Given the description of an element on the screen output the (x, y) to click on. 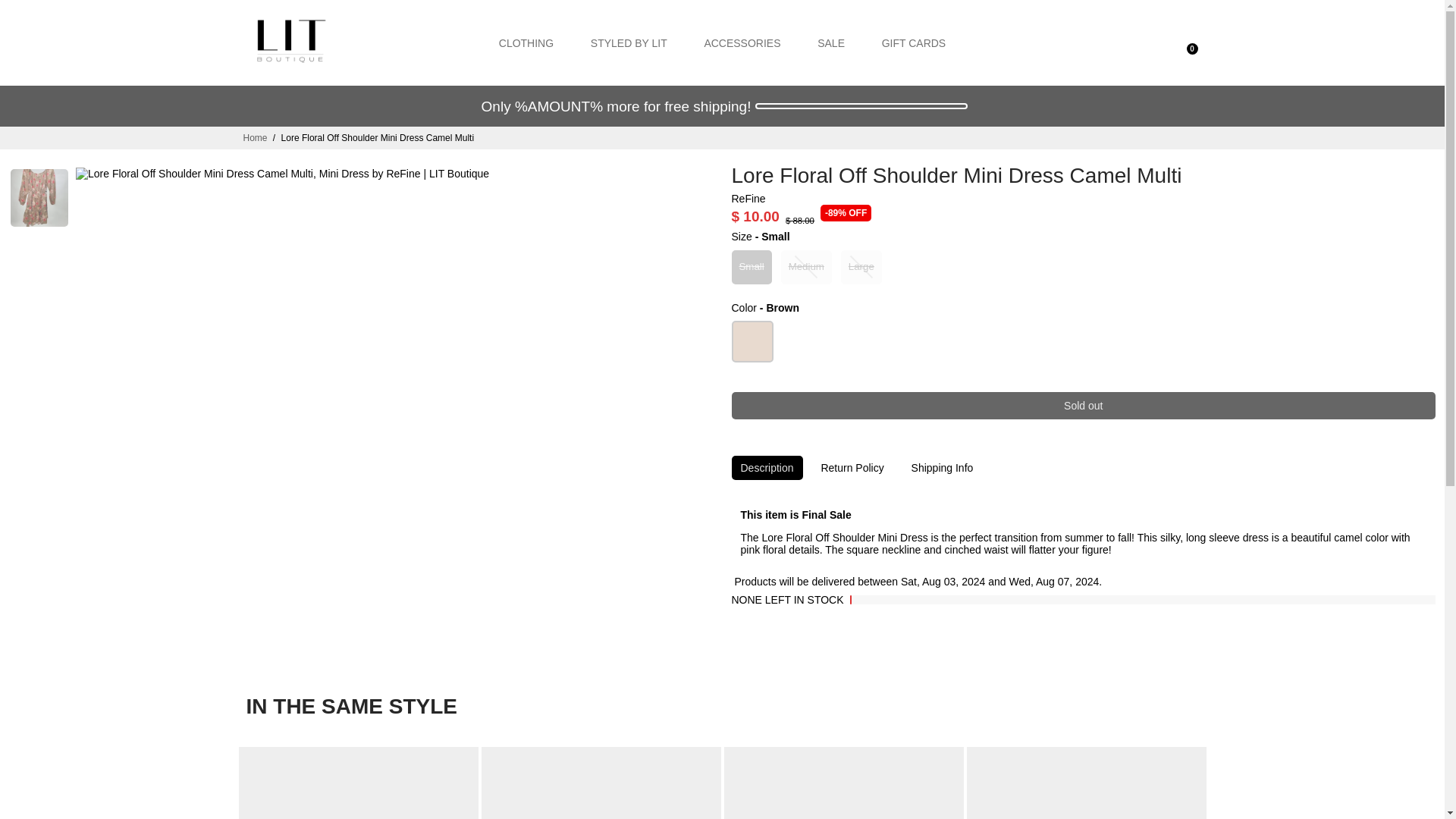
ACCESSORIES (741, 42)
CLOTHING (526, 42)
STYLED BY LIT (628, 42)
Home (254, 137)
